Given the description of an element on the screen output the (x, y) to click on. 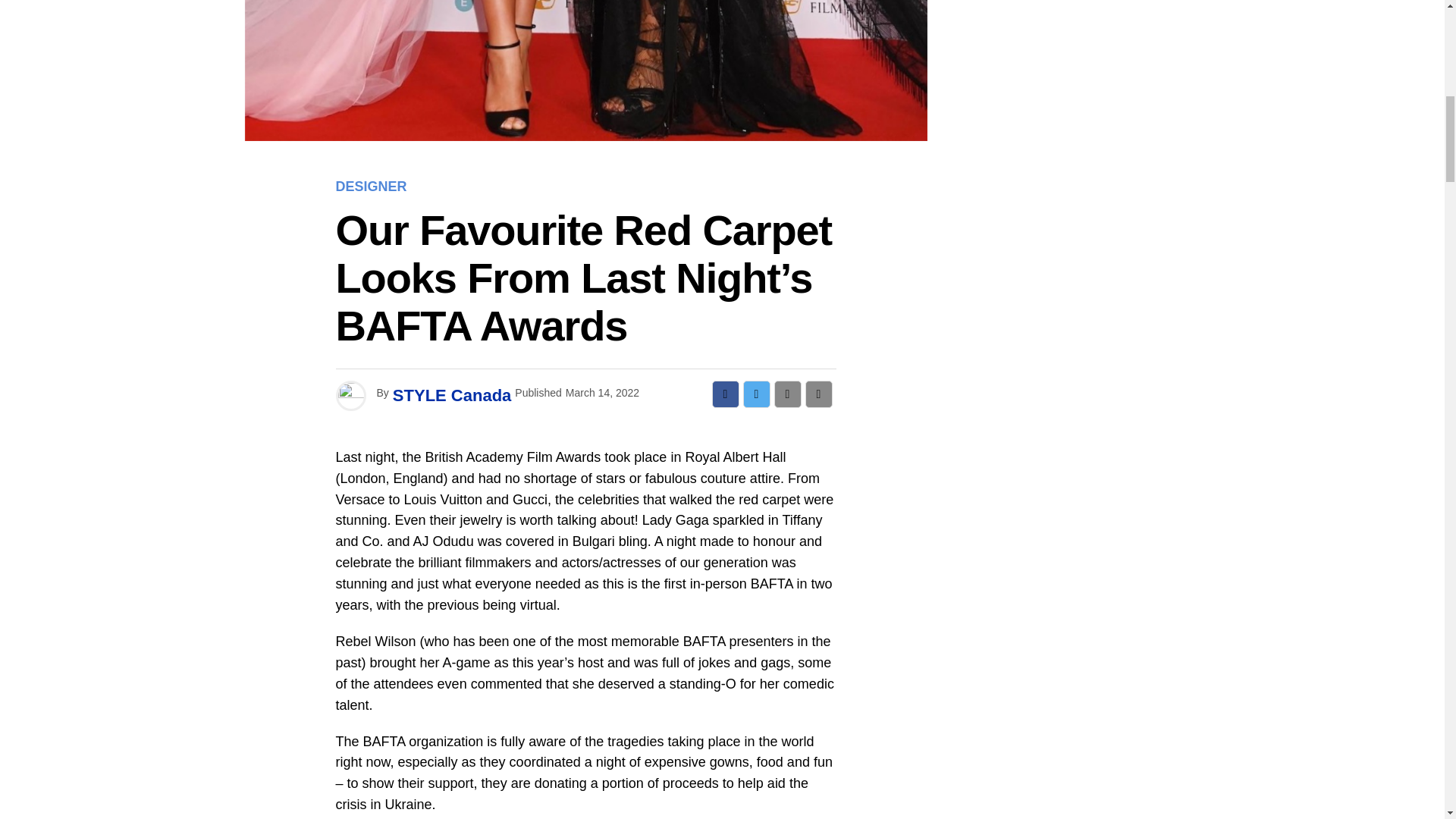
Share on Facebook (724, 393)
Posts by STYLE Canada (452, 394)
Tweet This Post (756, 393)
